Given the description of an element on the screen output the (x, y) to click on. 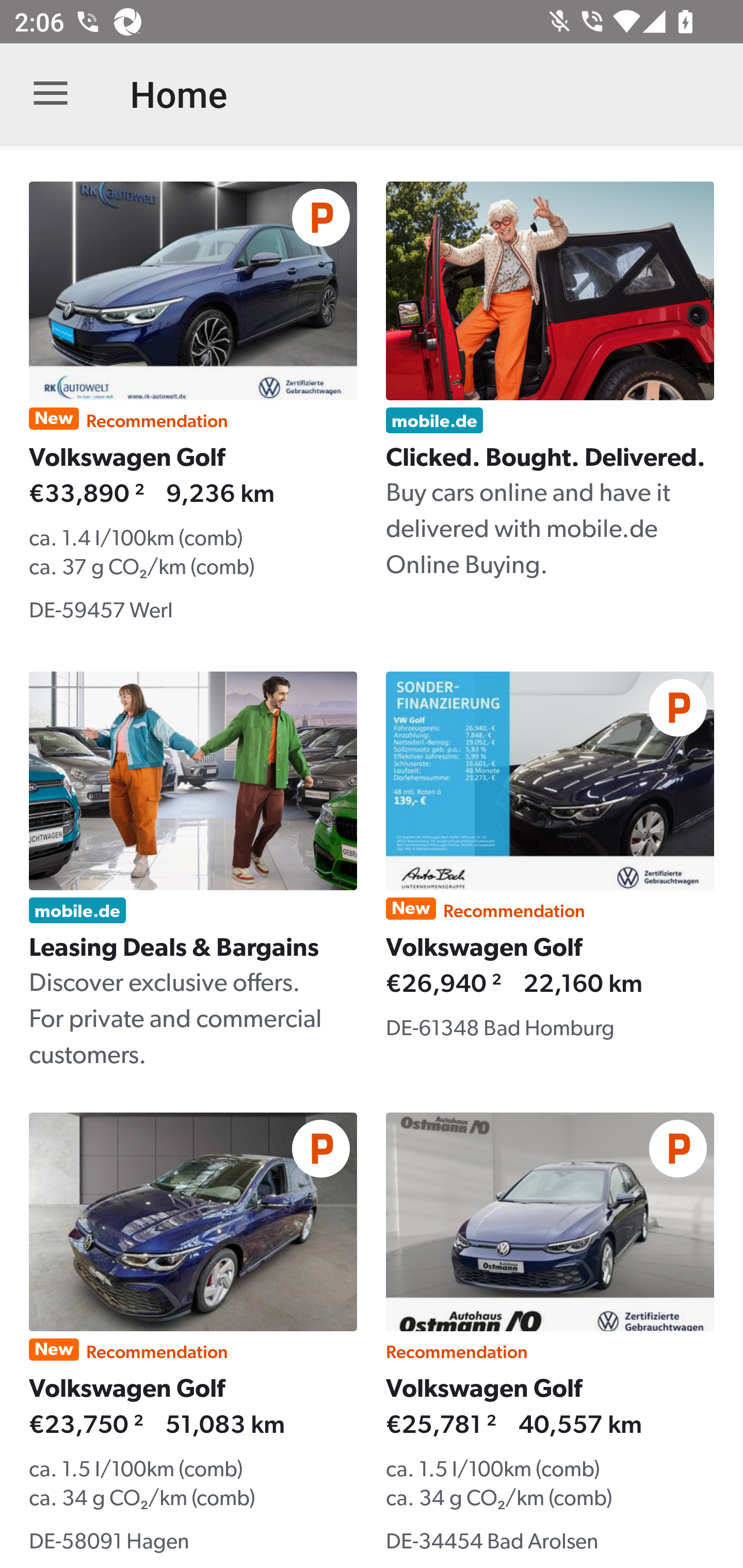
Open navigation bar (50, 93)
